Given the description of an element on the screen output the (x, y) to click on. 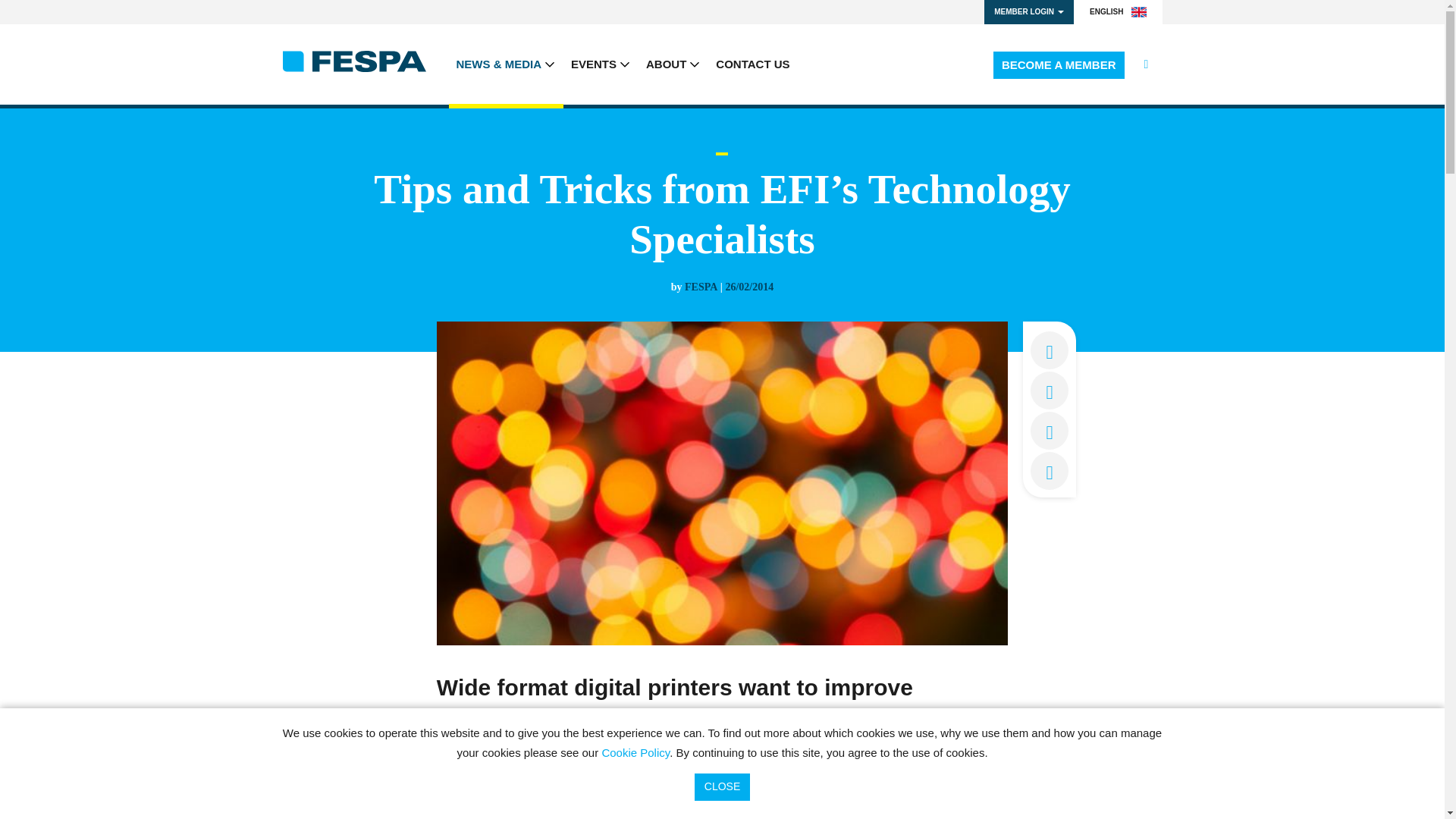
ENGLISH (1117, 12)
MEMBER LOGIN (1029, 12)
ABOUT (673, 63)
EVENTS (601, 63)
